Given the description of an element on the screen output the (x, y) to click on. 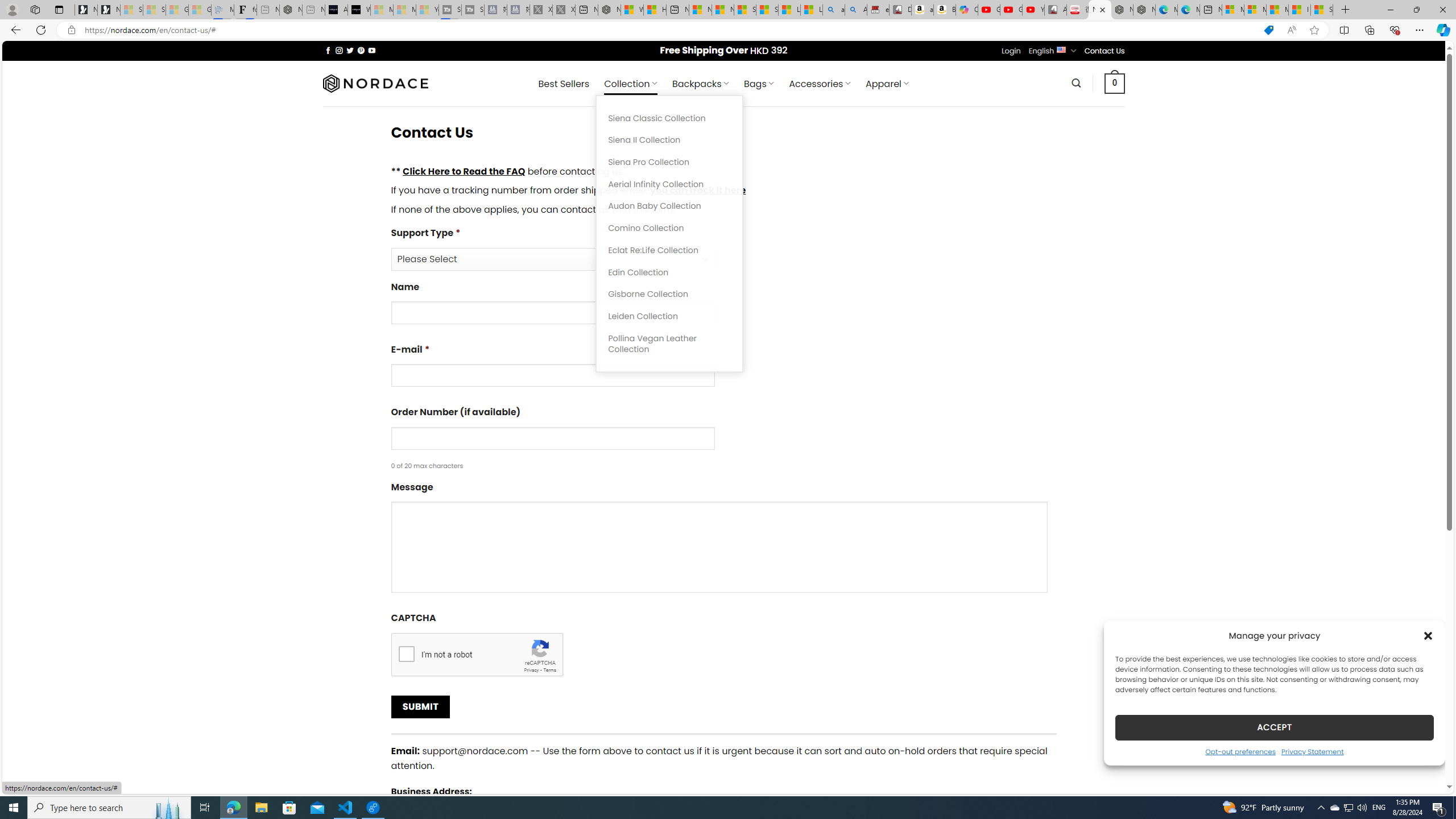
Audon Baby Collection (669, 205)
 Best Sellers (563, 83)
Name (552, 312)
Terms (549, 669)
Privacy Statement (1312, 750)
Order Number (if available)0 of 20 max characters (723, 437)
Pollina Vegan Leather Collection (669, 343)
